Given the description of an element on the screen output the (x, y) to click on. 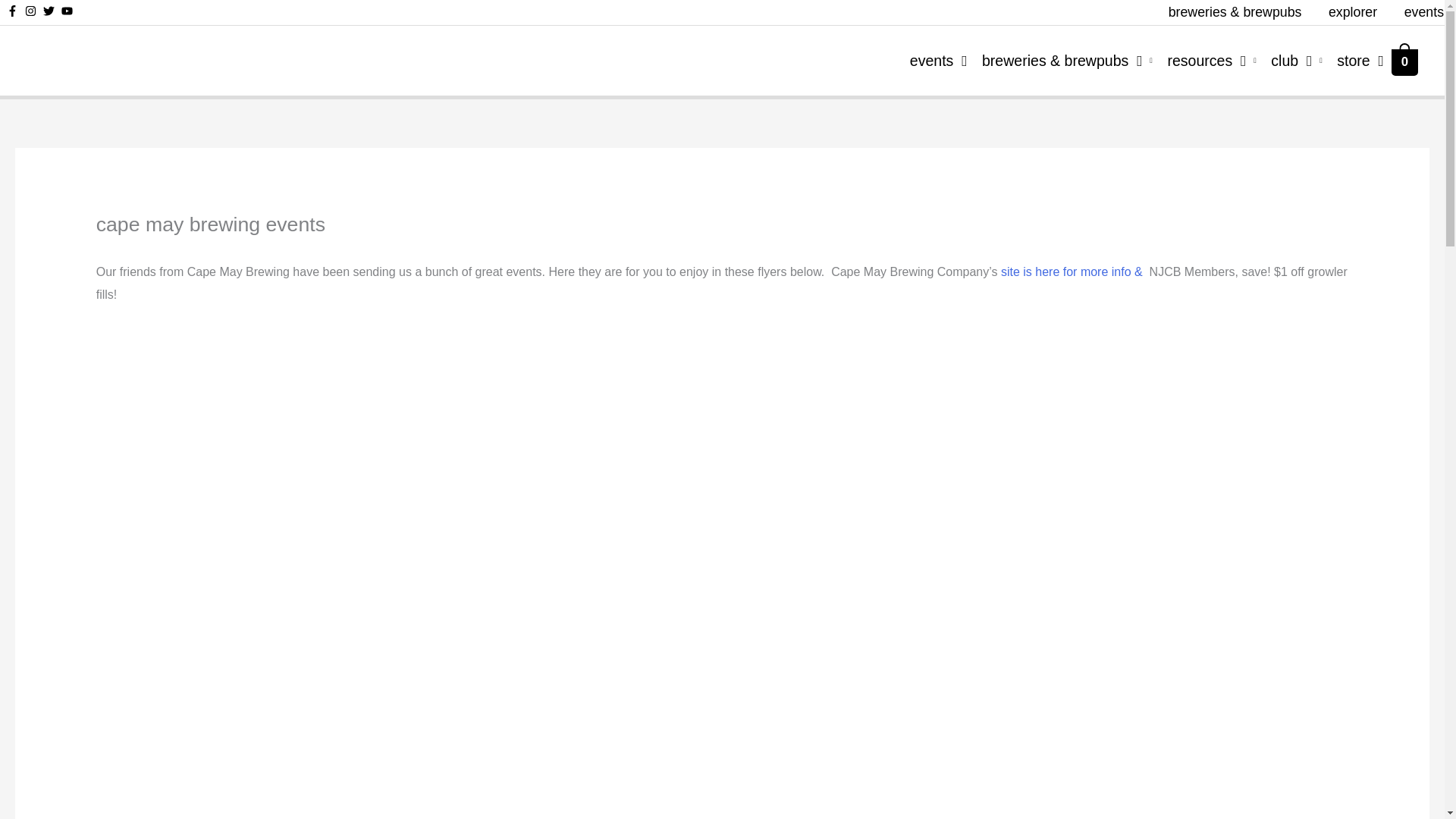
events (1417, 11)
NJCB Events and News (930, 60)
events   (930, 60)
resources   (1204, 60)
club   (1289, 60)
explorer (1352, 11)
New Jersey Breweries and Brewpubs (1058, 60)
NJCB Beer Resources (1204, 60)
NJCB Membership Club (1289, 60)
